Given the description of an element on the screen output the (x, y) to click on. 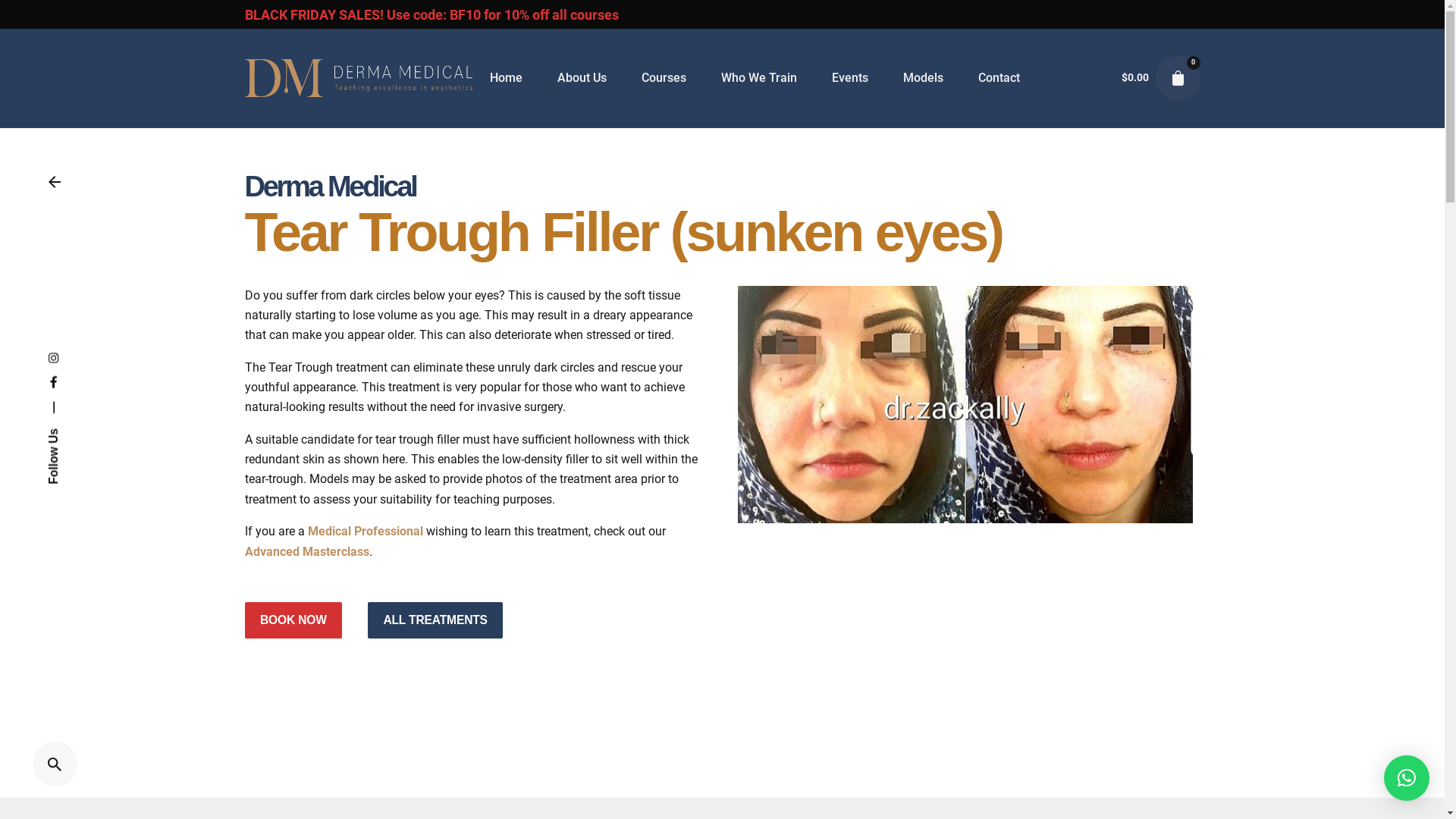
Models Element type: text (922, 77)
Contact Element type: text (998, 77)
Medical Professional Element type: text (365, 531)
About Us Element type: text (581, 77)
Who We Train Element type: text (758, 77)
Tear-Trough-Filler-Model-Treatment Element type: hover (964, 404)
Advanced Masterclass Element type: text (306, 551)
Courses Element type: text (663, 77)
Home Element type: text (505, 77)
$0.00 Element type: text (1134, 77)
ALL TREATMENTS Element type: text (434, 620)
Events Element type: text (849, 77)
BOOK NOW Element type: text (293, 620)
